Given the description of an element on the screen output the (x, y) to click on. 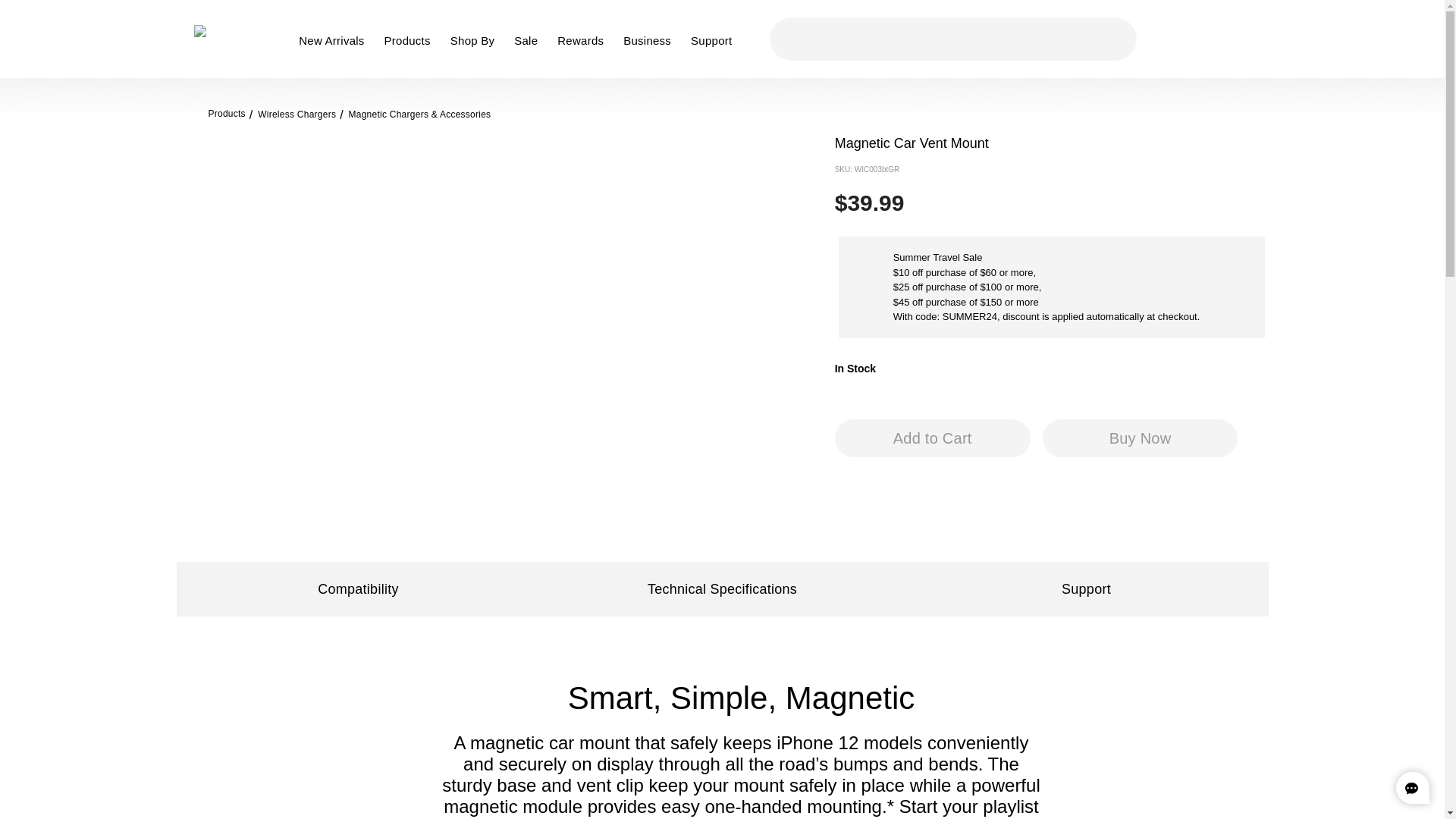
New Arrivals (334, 49)
Belkin US Home (223, 39)
Products (411, 49)
Products (411, 49)
New Arrivals (334, 49)
